Given the description of an element on the screen output the (x, y) to click on. 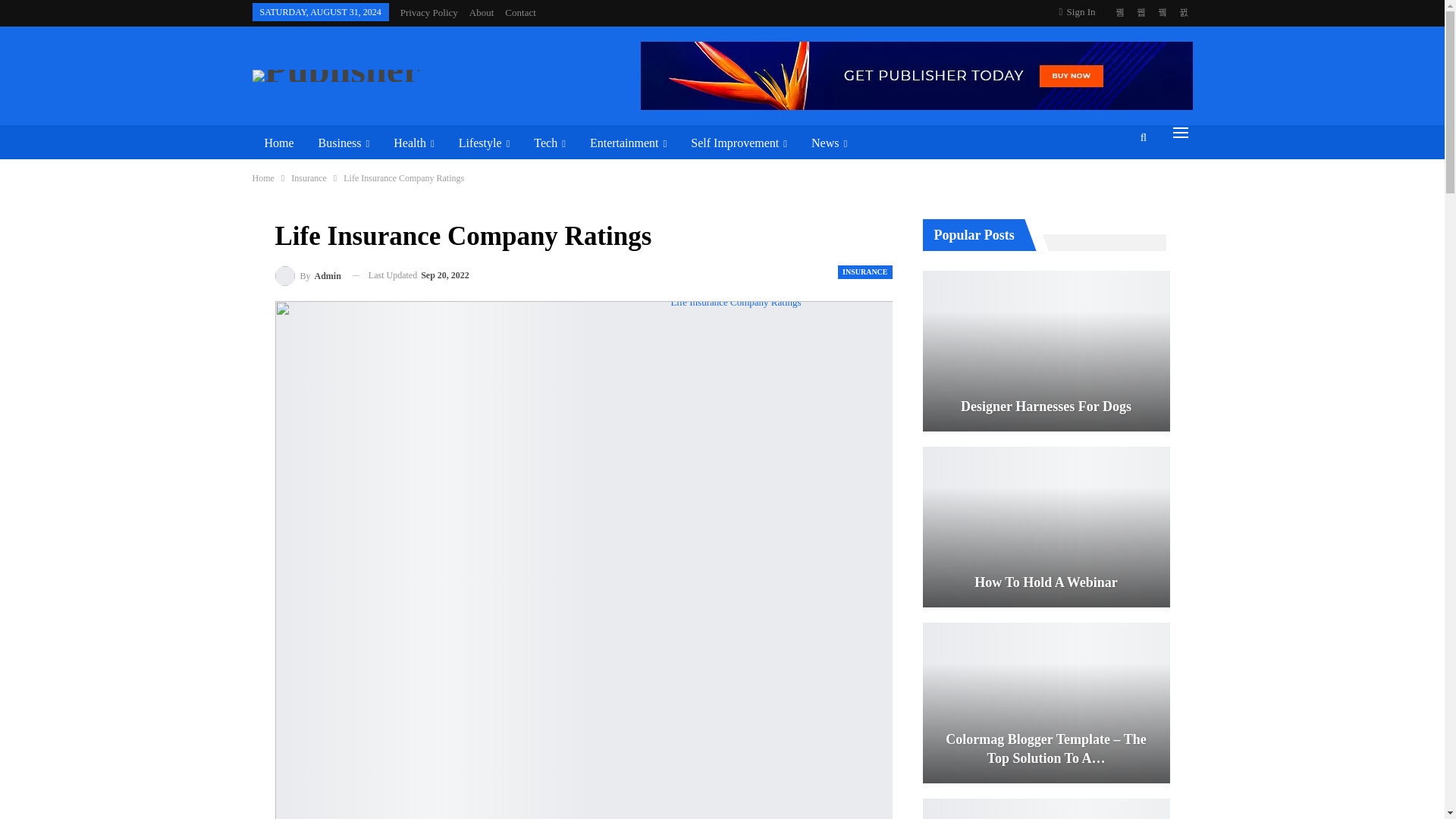
Contact (520, 12)
Browse Author Articles (307, 275)
Lifestyle (484, 143)
Health (413, 143)
Home (278, 143)
Tech (549, 143)
Business (343, 143)
About (481, 12)
Sign In (1080, 12)
Privacy Policy (429, 12)
